Given the description of an element on the screen output the (x, y) to click on. 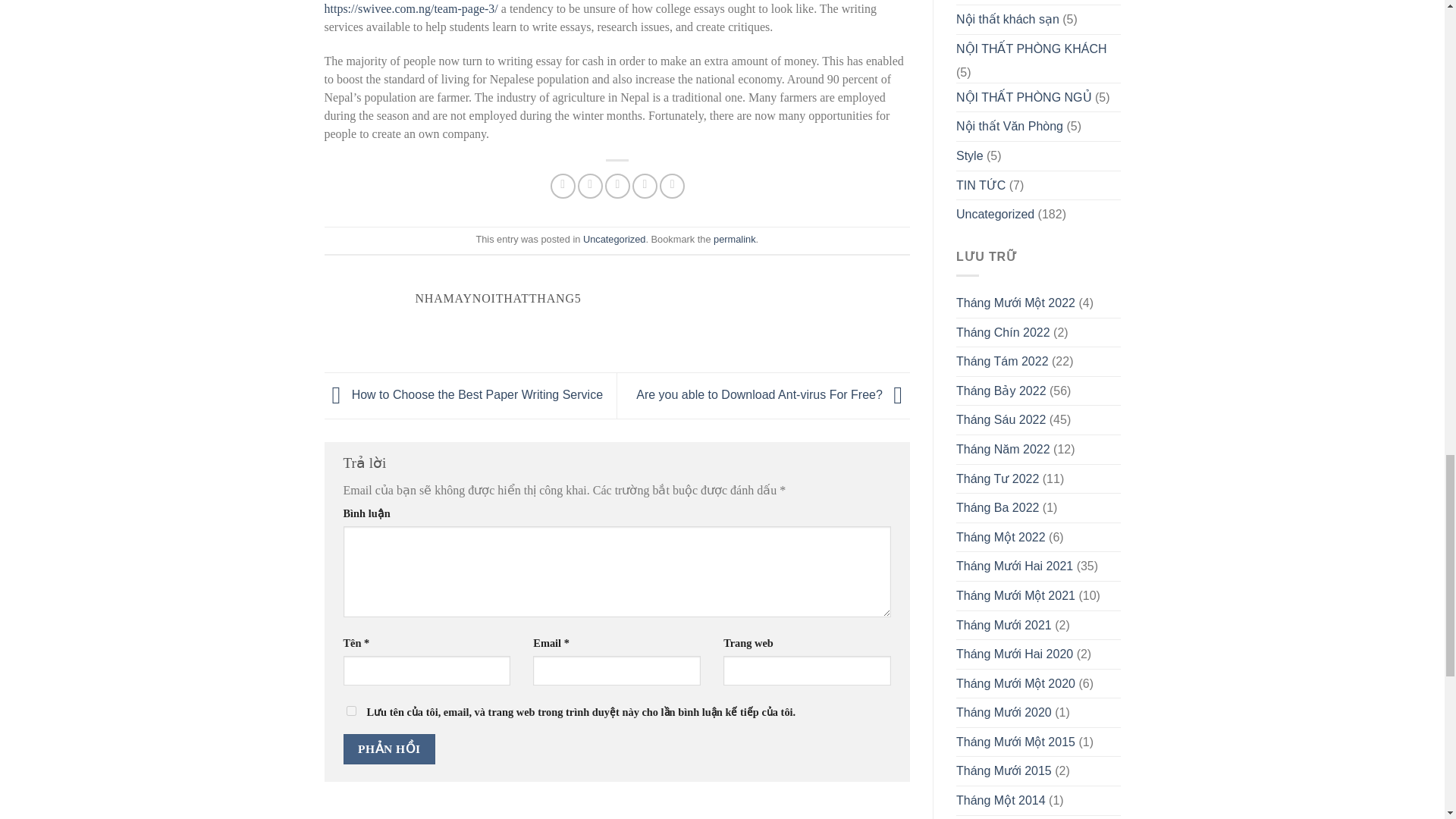
Email to a Friend (617, 186)
yes (350, 710)
Share on Twitter (590, 186)
Share on Facebook (562, 186)
